Given the description of an element on the screen output the (x, y) to click on. 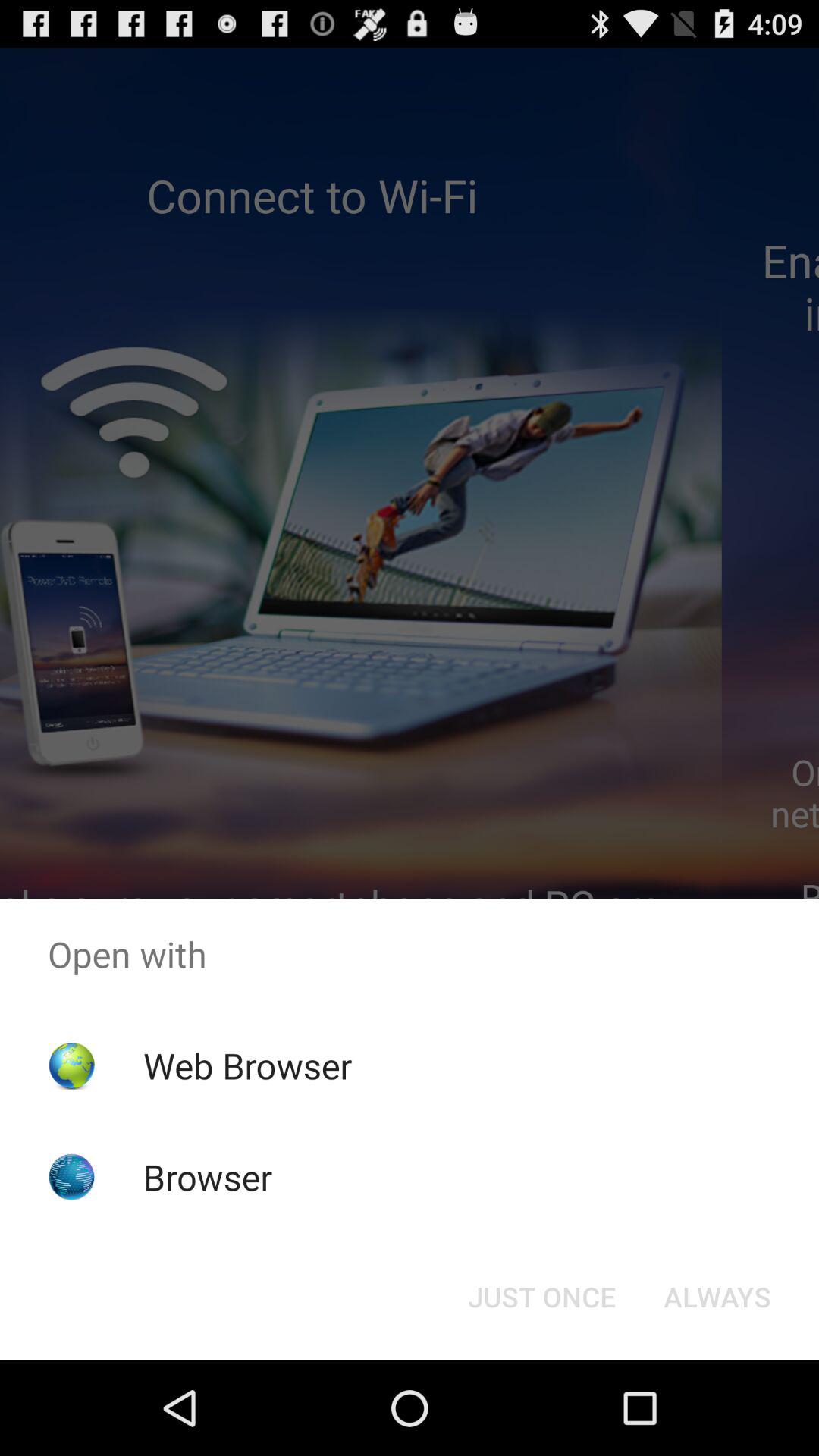
flip to the just once button (541, 1296)
